Given the description of an element on the screen output the (x, y) to click on. 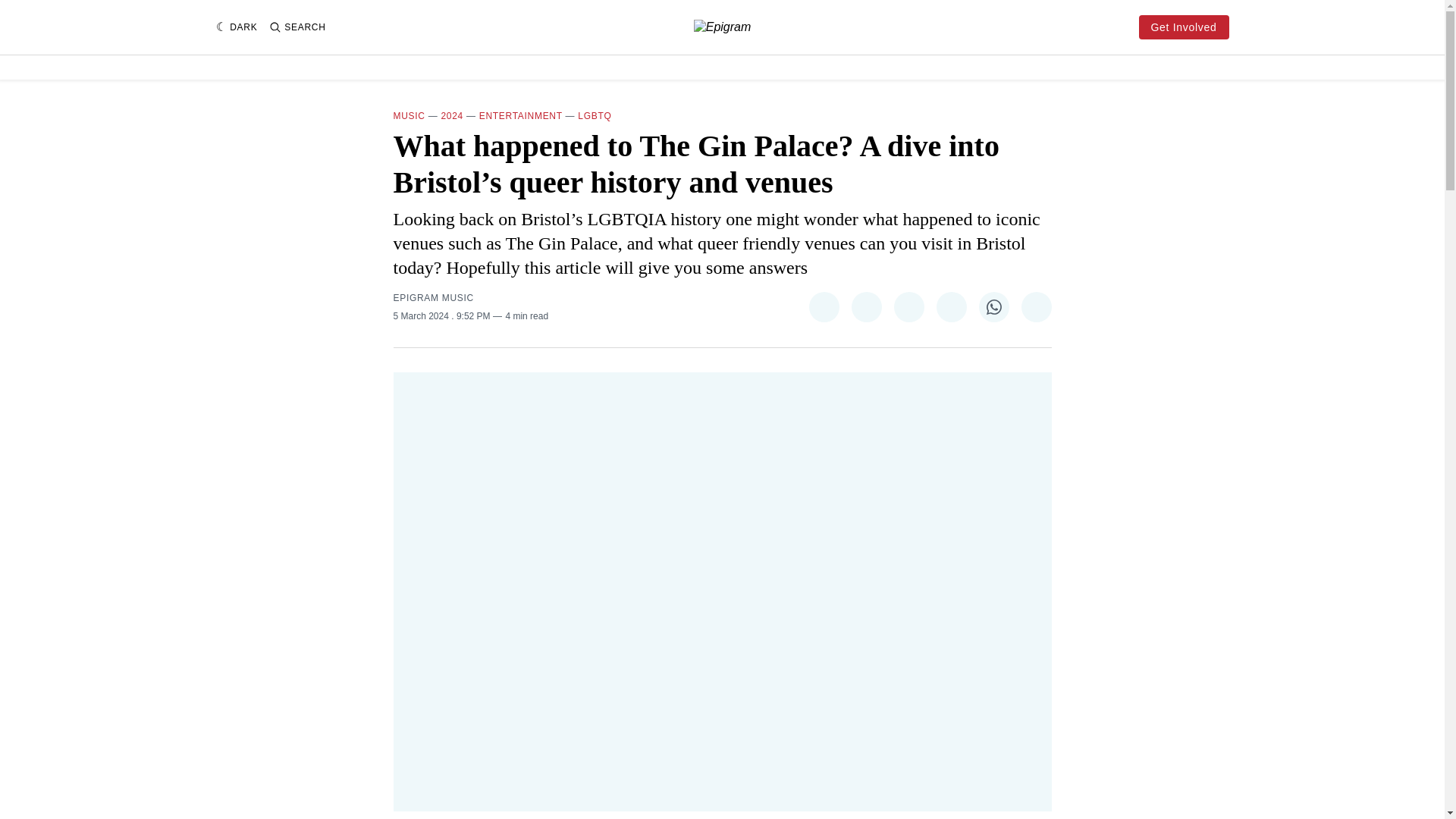
Share on WhatsApp (993, 306)
EPIGRAM MUSIC (433, 297)
DARK (236, 27)
LGBTQ (594, 115)
Share via Email (1035, 306)
Share on LinkedIn (951, 306)
SEARCH (296, 27)
Get Involved (1183, 27)
Share on Twitter (823, 306)
2024 (452, 115)
MUSIC (409, 115)
ENTERTAINMENT (520, 115)
Share on Facebook (865, 306)
Share on Pinterest (908, 306)
